Given the description of an element on the screen output the (x, y) to click on. 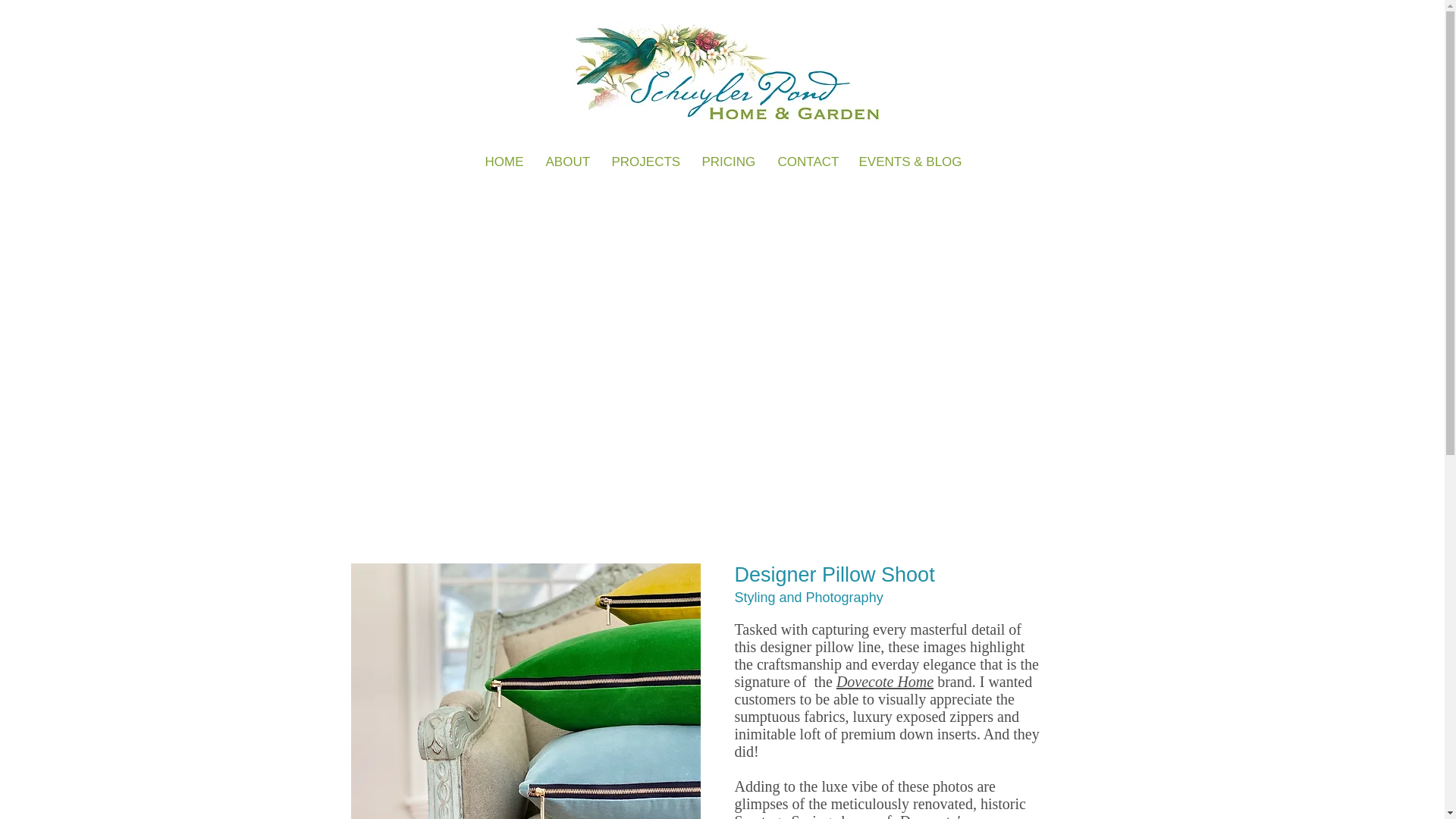
HOME (503, 161)
Dovecote Home (884, 681)
PROJECTS (644, 161)
CONTACT (806, 161)
ABOUT (566, 161)
PRICING (727, 161)
